Given the description of an element on the screen output the (x, y) to click on. 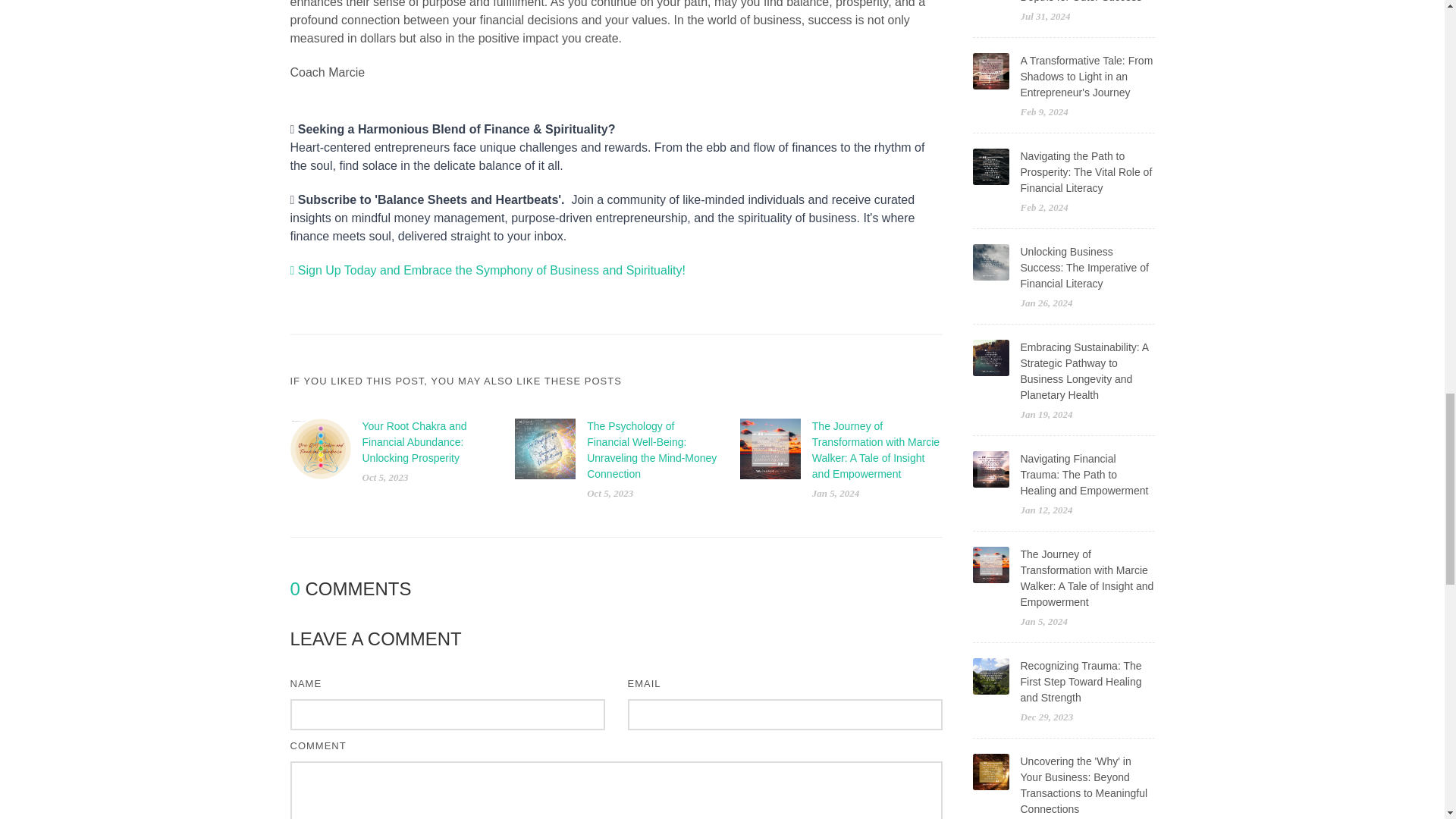
Oct 5, 2023 (385, 477)
Oct 5, 2023 (609, 492)
Jan 5, 2024 (835, 492)
